Given the description of an element on the screen output the (x, y) to click on. 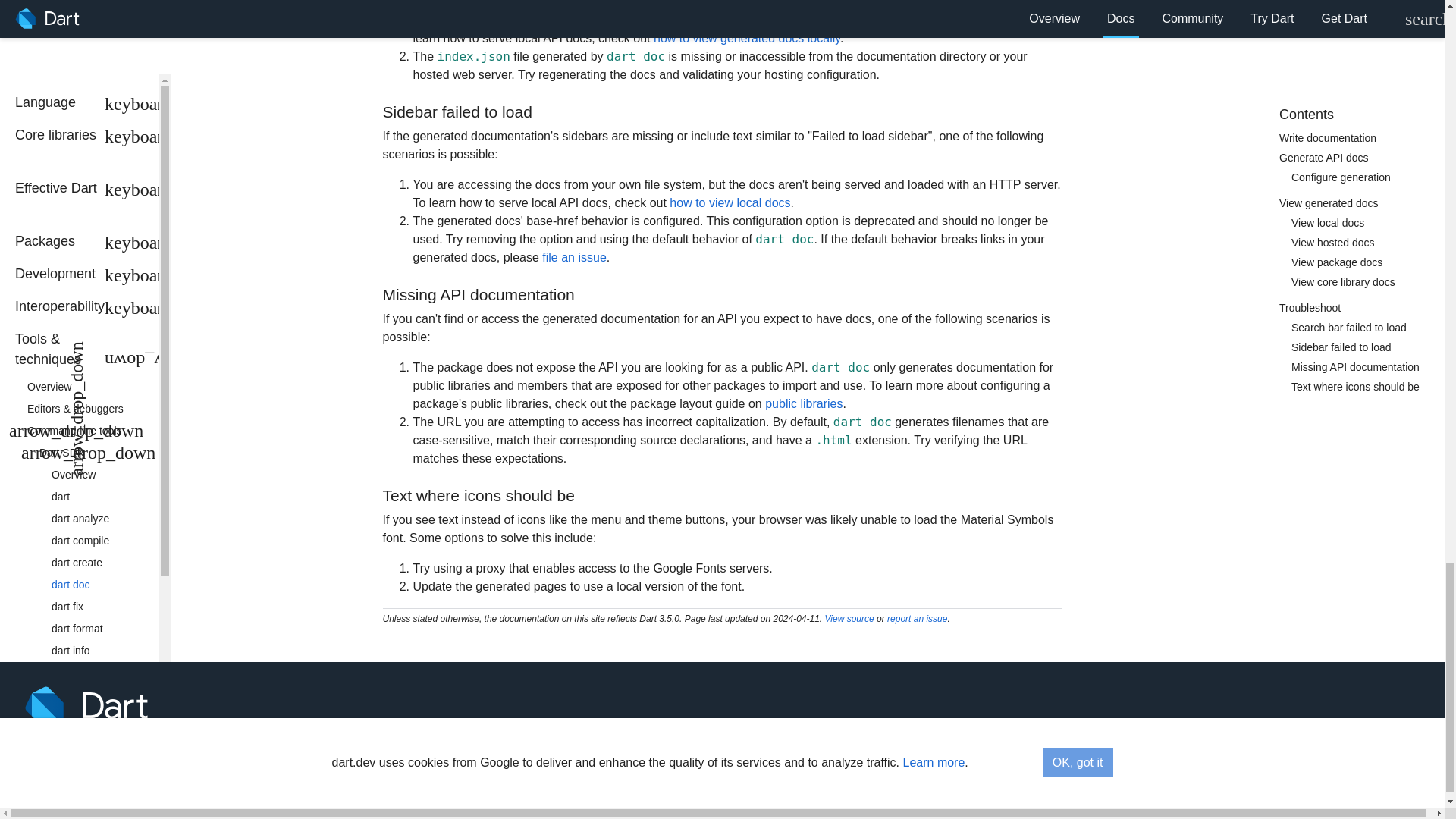
Dart (90, 705)
Medium blog (1330, 705)
Privacy policy (1352, 770)
Report an issue with this page (916, 618)
Security philosophy and practices (1401, 770)
GitHub (1370, 705)
Terms of use (1308, 770)
